Given the description of an element on the screen output the (x, y) to click on. 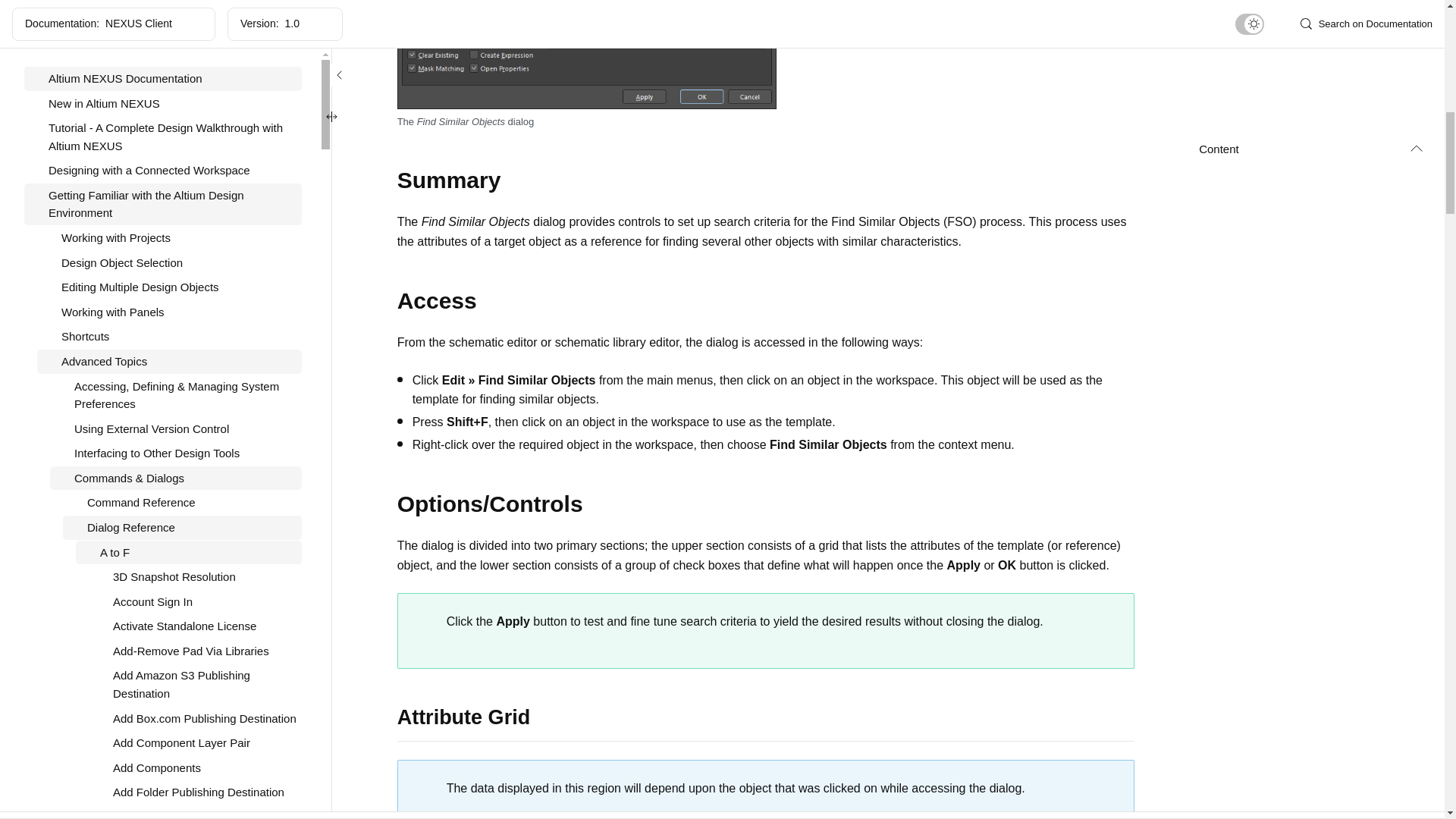
The Find Similar Objects dialog (586, 54)
